Given the description of an element on the screen output the (x, y) to click on. 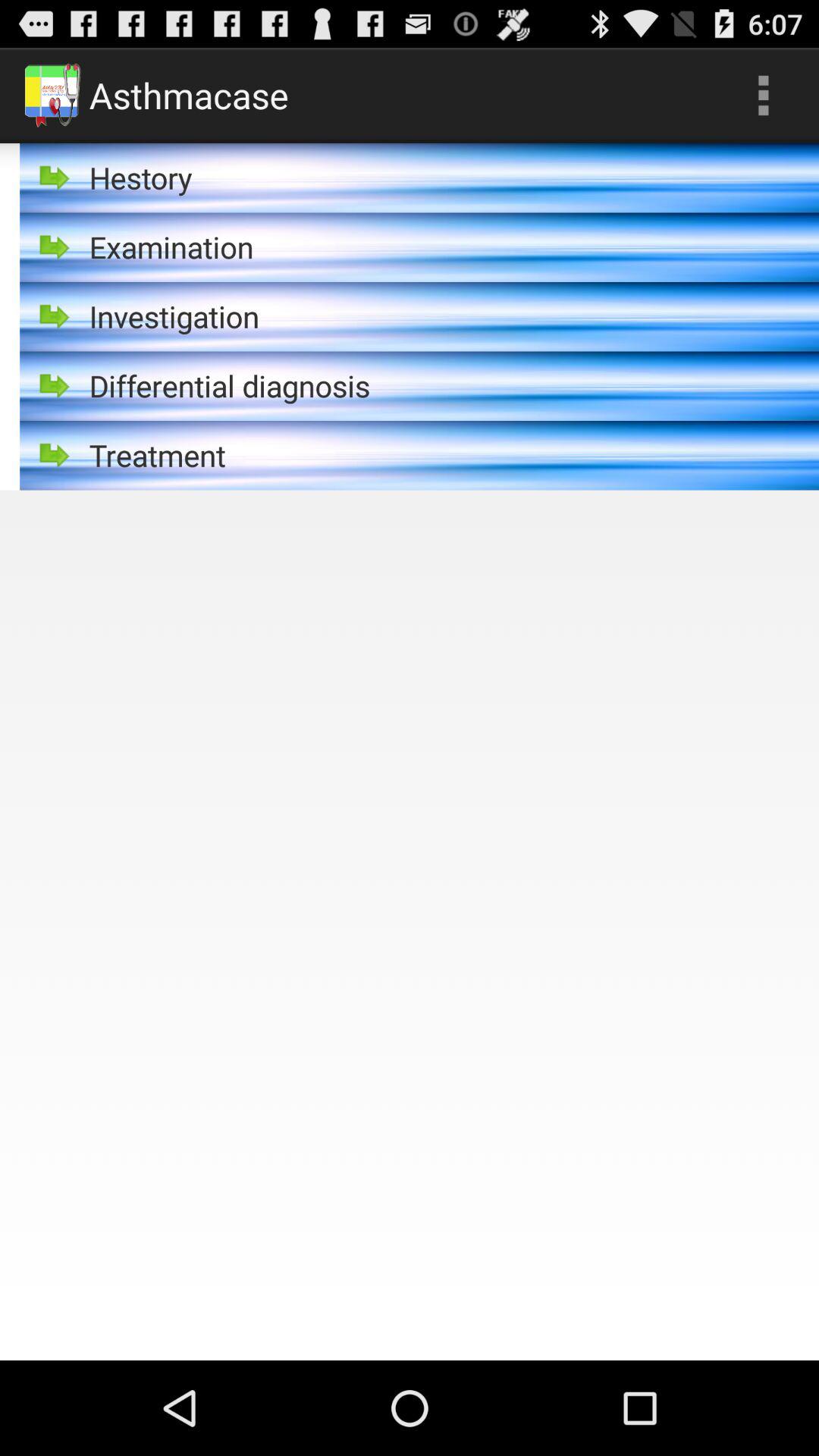
choose app to the right of asthmacase item (763, 95)
